Given the description of an element on the screen output the (x, y) to click on. 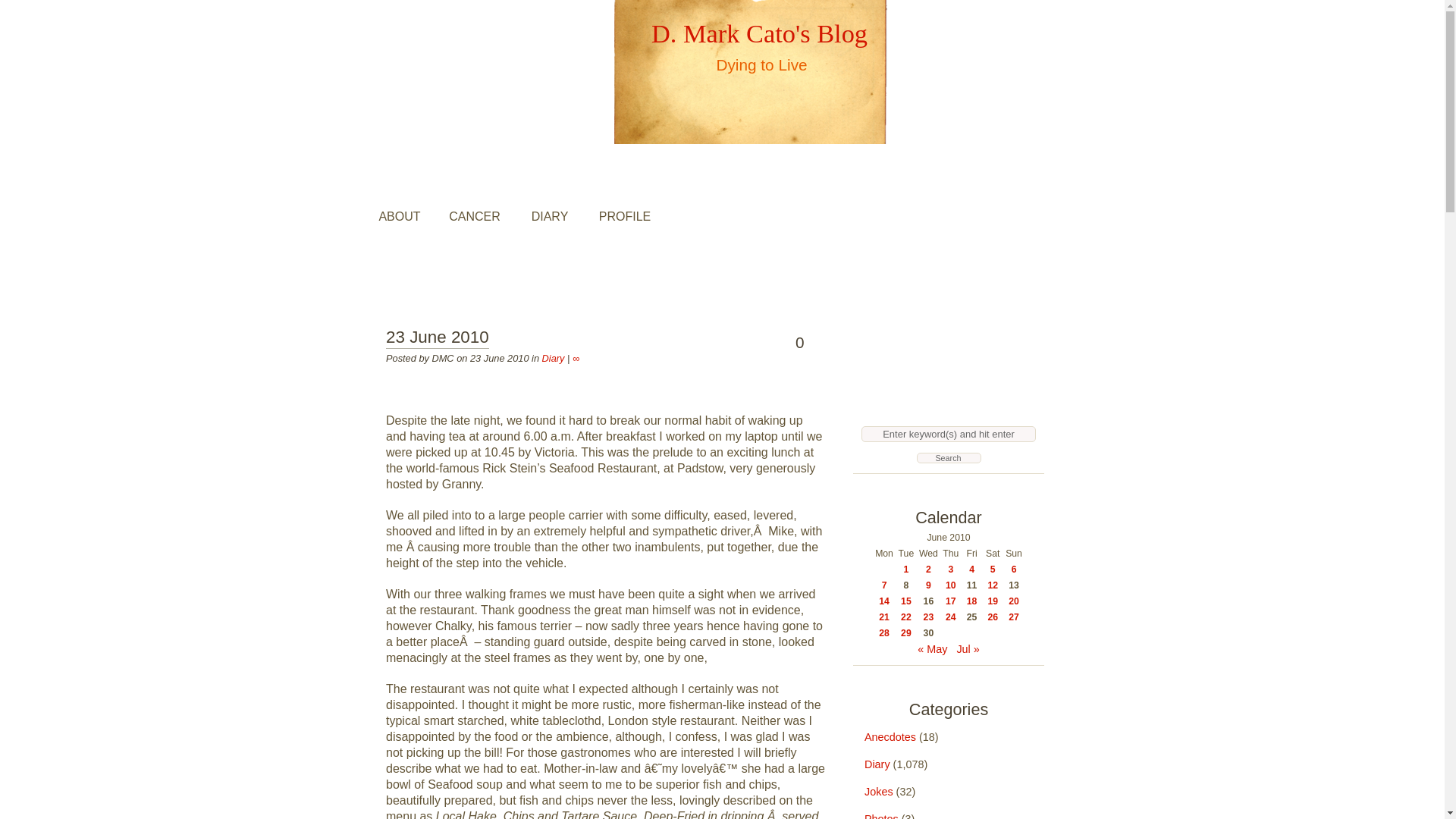
23 June 2010 (437, 337)
Search (947, 457)
Tuesday (906, 553)
19 (992, 601)
Diary (552, 357)
14 (884, 601)
20 (1014, 601)
D. Mark Cato's Blog (758, 32)
ABOUT (400, 216)
D. Mark Cato's Blog (758, 32)
